Given the description of an element on the screen output the (x, y) to click on. 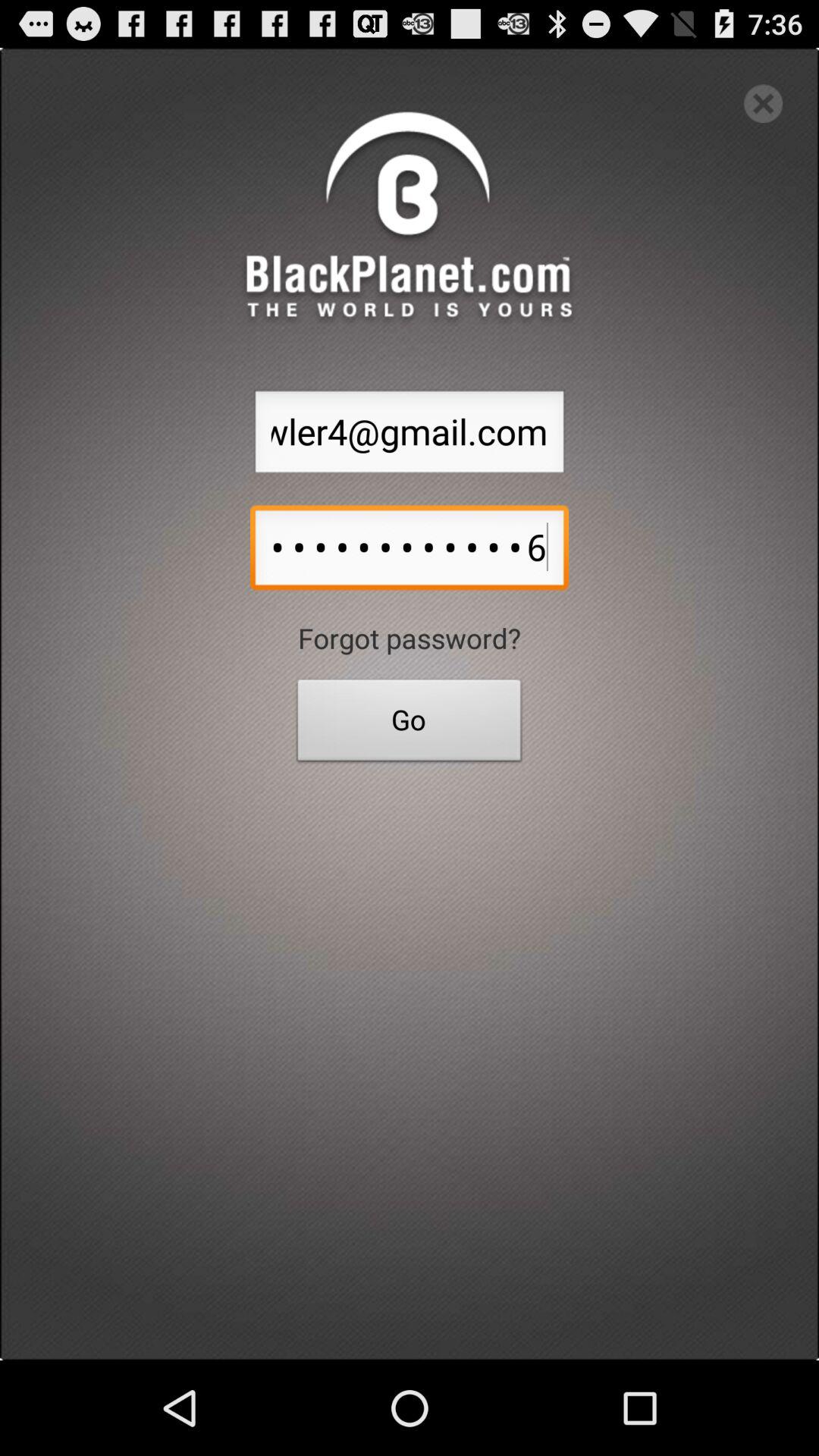
go back (763, 103)
